Given the description of an element on the screen output the (x, y) to click on. 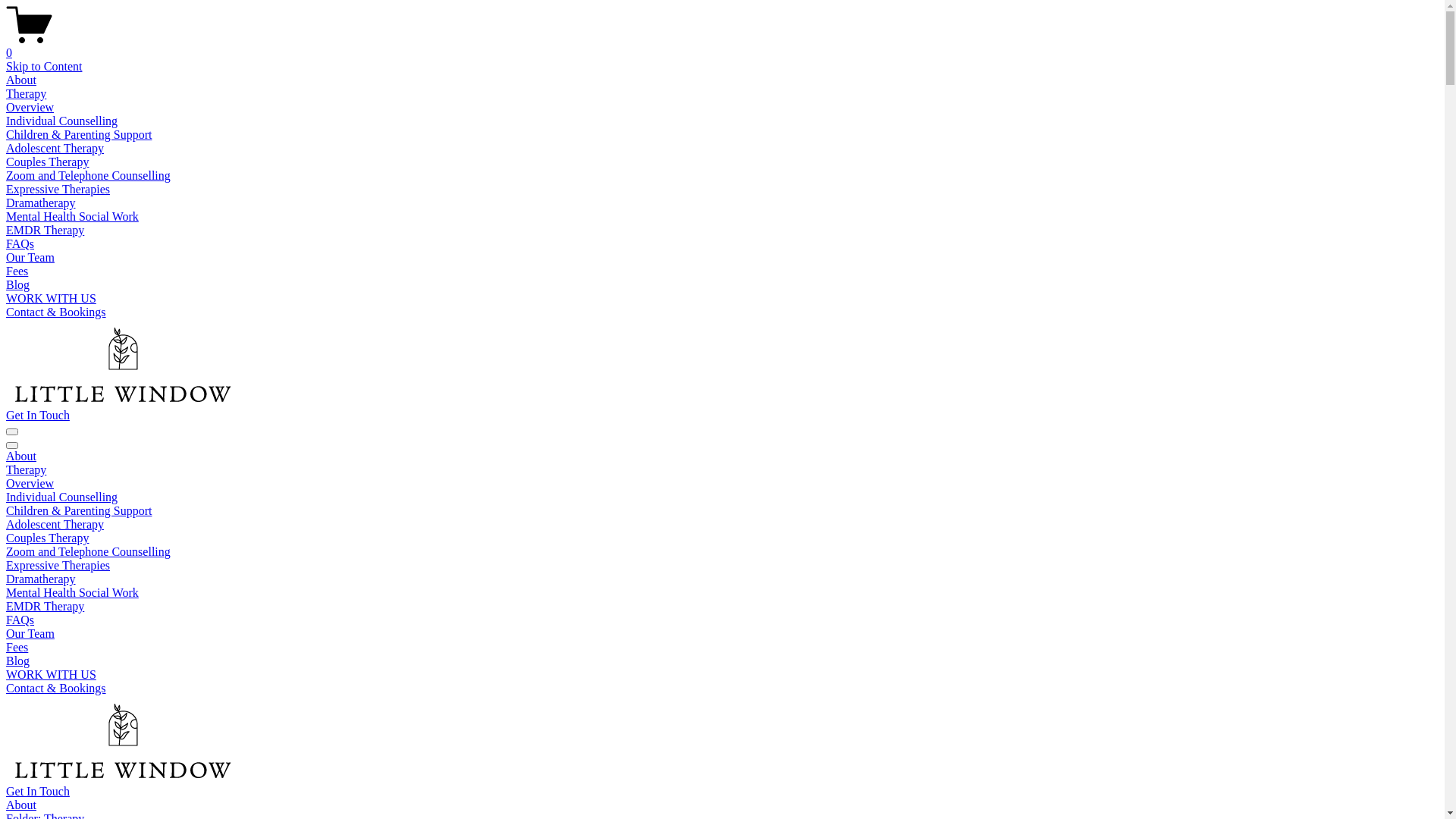
Therapy Element type: text (26, 93)
Our Team Element type: text (30, 633)
Get In Touch Element type: text (37, 790)
Contact & Bookings Element type: text (56, 311)
0 Element type: text (722, 45)
Children & Parenting Support Element type: text (78, 134)
Skip to Content Element type: text (43, 65)
About Element type: text (21, 455)
Overview Element type: text (29, 482)
Our Team Element type: text (30, 257)
Dramatherapy Element type: text (40, 578)
EMDR Therapy Element type: text (45, 229)
Zoom and Telephone Counselling Element type: text (88, 175)
Adolescent Therapy Element type: text (54, 523)
FAQs Element type: text (20, 619)
Individual Counselling Element type: text (61, 120)
About Element type: text (722, 805)
About Element type: text (21, 79)
Blog Element type: text (17, 660)
Dramatherapy Element type: text (40, 202)
Mental Health Social Work Element type: text (72, 592)
Fees Element type: text (17, 270)
FAQs Element type: text (20, 243)
Therapy Element type: text (26, 469)
Children & Parenting Support Element type: text (78, 510)
Overview Element type: text (29, 106)
Get In Touch Element type: text (37, 414)
Couples Therapy Element type: text (47, 537)
Contact & Bookings Element type: text (56, 687)
Mental Health Social Work Element type: text (72, 216)
WORK WITH US Element type: text (51, 674)
Blog Element type: text (17, 284)
EMDR Therapy Element type: text (45, 605)
WORK WITH US Element type: text (51, 297)
Expressive Therapies Element type: text (57, 188)
Adolescent Therapy Element type: text (54, 147)
Individual Counselling Element type: text (61, 496)
Fees Element type: text (17, 646)
Couples Therapy Element type: text (47, 161)
Expressive Therapies Element type: text (57, 564)
Zoom and Telephone Counselling Element type: text (88, 551)
